Given the description of an element on the screen output the (x, y) to click on. 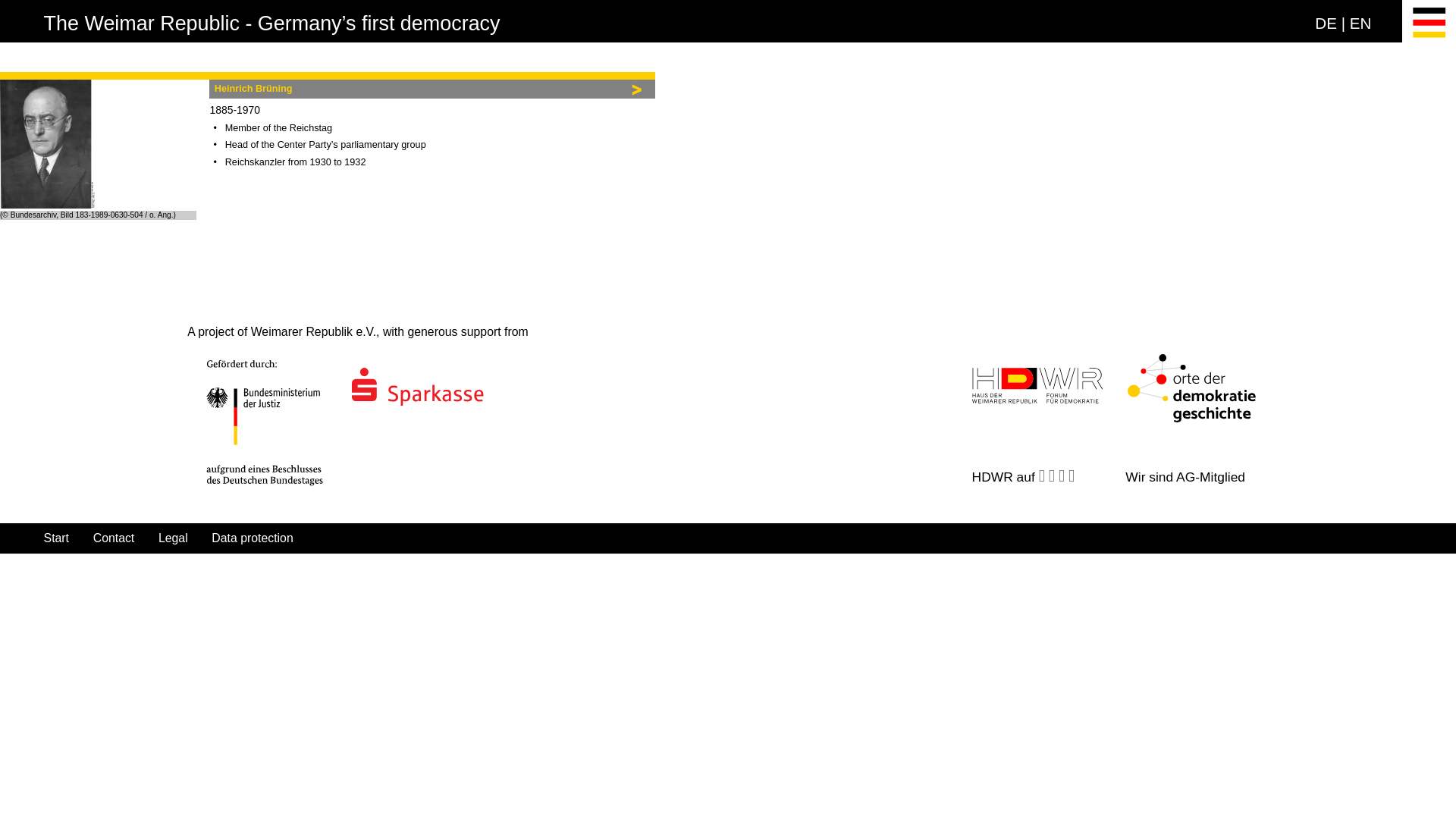
Inhalte auf deutsch anzeigen (1325, 22)
go to start (271, 23)
show english contents (1360, 22)
go to start (55, 537)
